Given the description of an element on the screen output the (x, y) to click on. 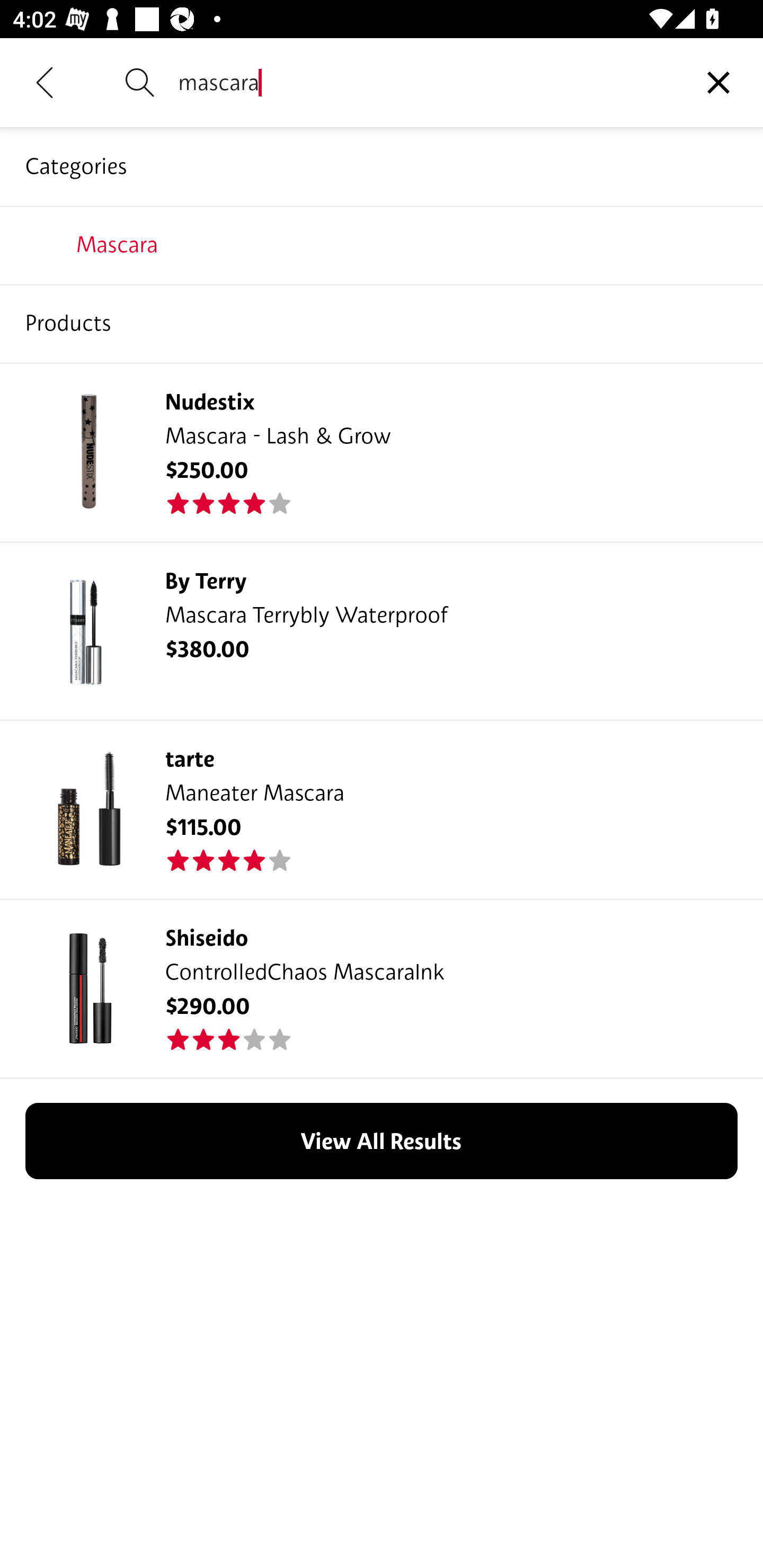
Navigate up (44, 82)
Clear query (718, 81)
mascara (425, 82)
sephora collection (381, 244)
supergoop! (381, 322)
Product Image tarte Maneater Mascara $115.00 (381, 808)
View All Results (381, 1140)
